Given the description of an element on the screen output the (x, y) to click on. 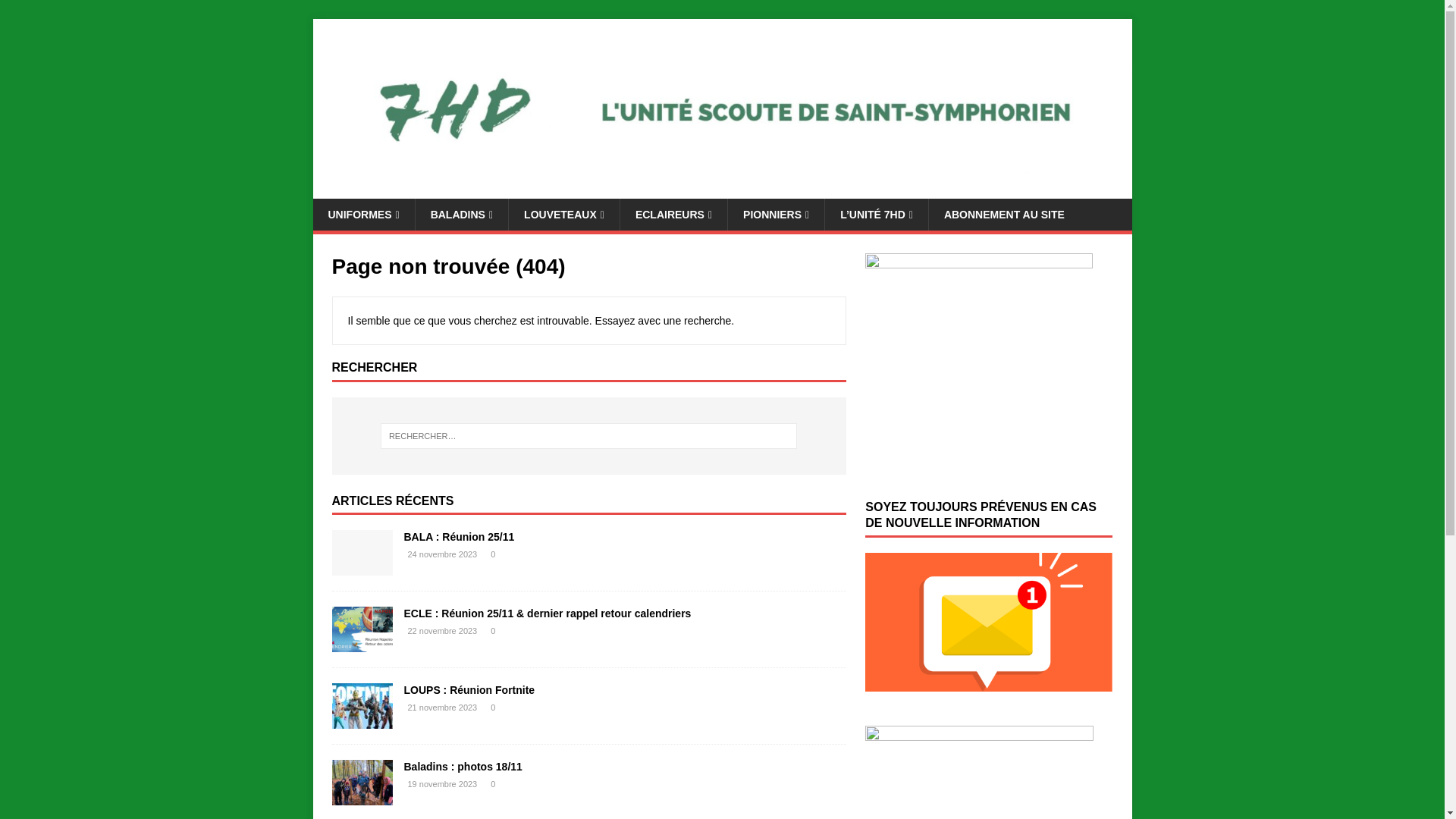
0 Element type: text (492, 707)
PIONNIERS Element type: text (775, 214)
7HD Element type: hover (721, 189)
0 Element type: text (492, 630)
Rechercher Element type: text (56, 11)
Baladins : photos 18/11 Element type: hover (362, 796)
Baladins : photos 18/11 Element type: text (462, 766)
ABONNEMENT AU SITE Element type: text (1003, 214)
BALADINS Element type: text (461, 214)
UNIFORMES Element type: text (363, 214)
ECLAIREURS Element type: text (673, 214)
0 Element type: text (492, 553)
LOUVETEAUX Element type: text (563, 214)
0 Element type: text (492, 783)
